Given the description of an element on the screen output the (x, y) to click on. 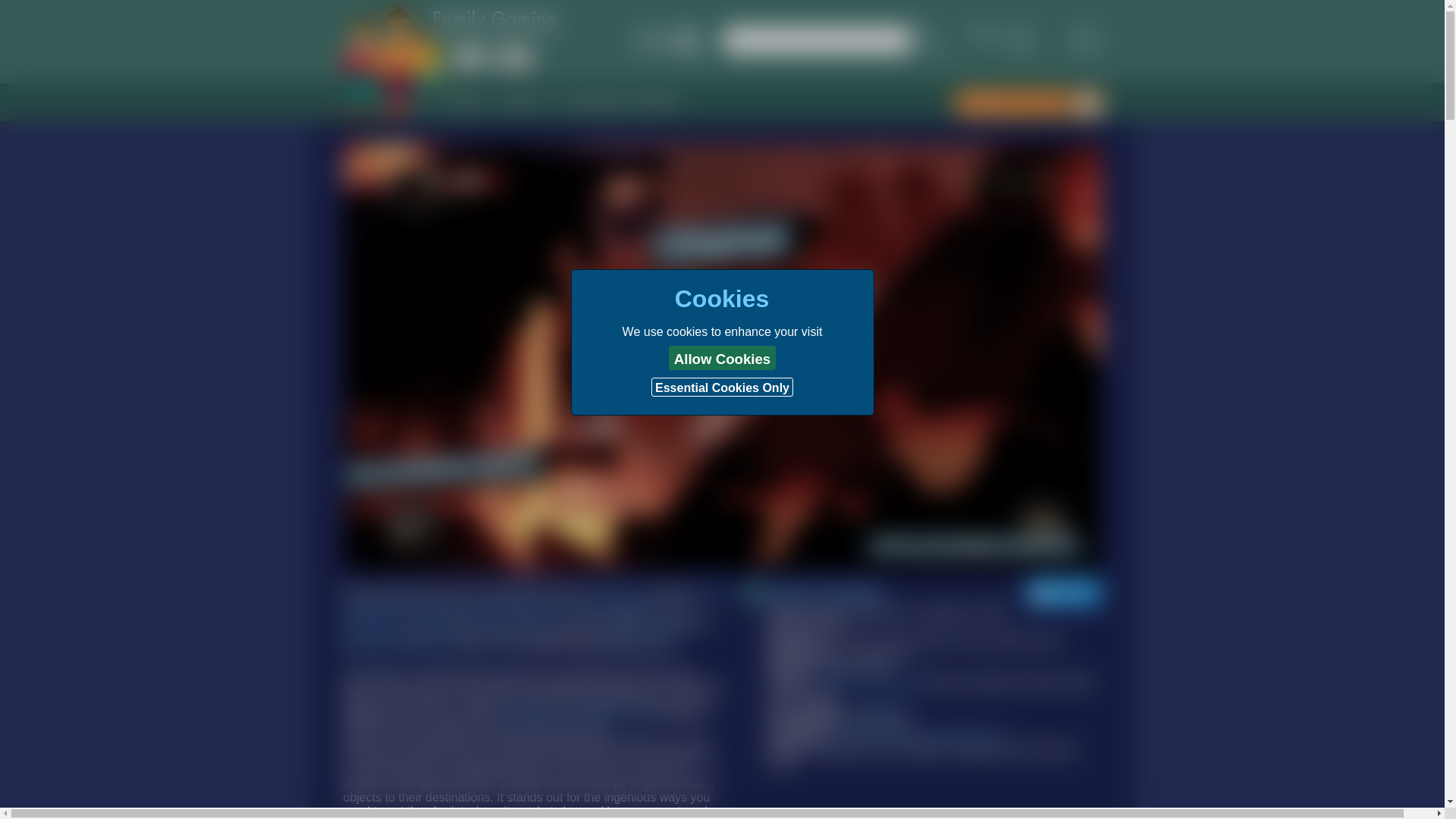
CHARIOT (521, 102)
Search (817, 40)
GAMES (464, 102)
Sign-In (665, 40)
